Given the description of an element on the screen output the (x, y) to click on. 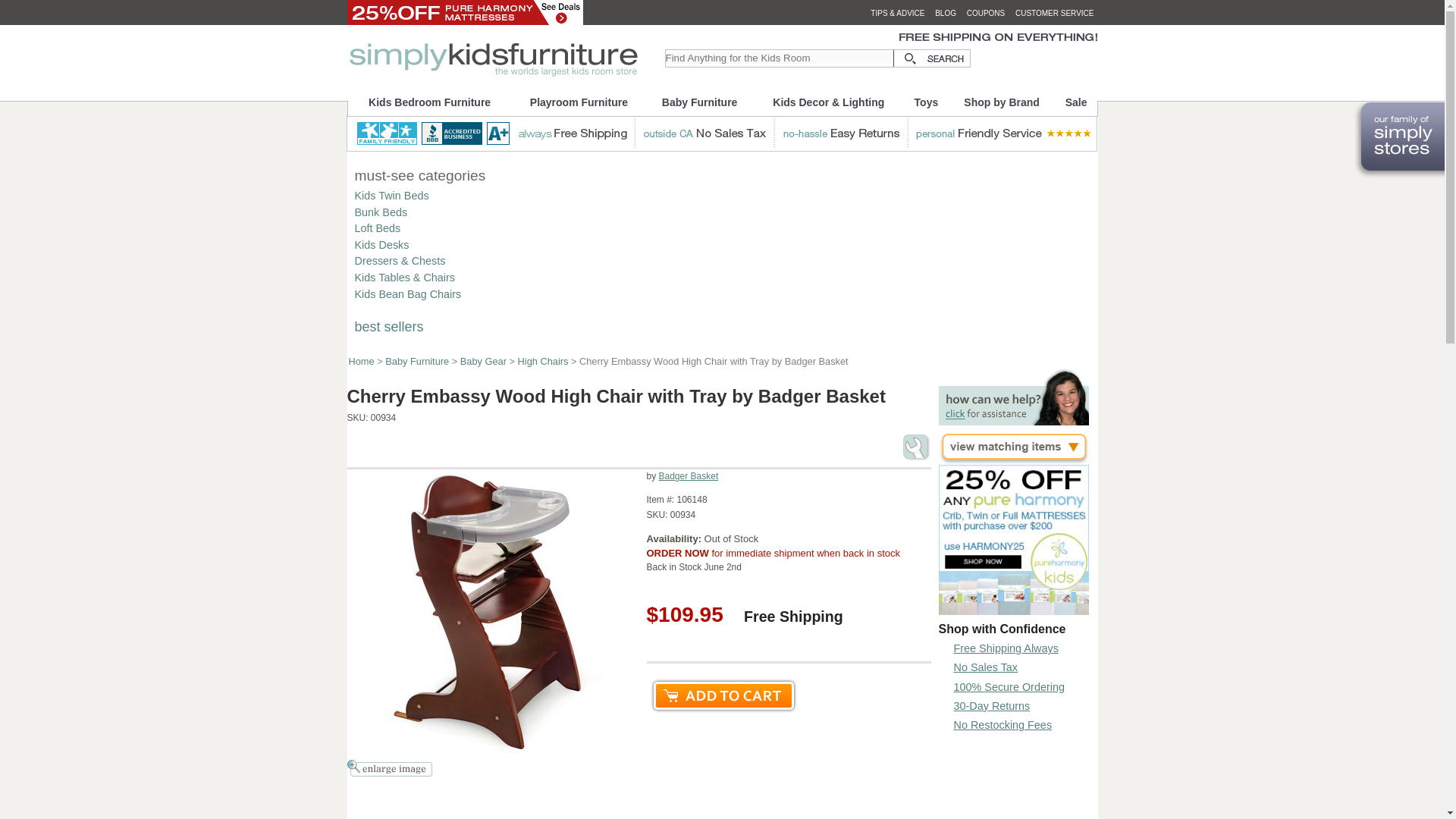
COUPONS (986, 13)
Toys (925, 102)
Better Business Bureau Accredited Business (467, 132)
BLOG (945, 13)
CUSTOMER SERVICE (1054, 13)
Shop by Brand (1002, 102)
Sale (1076, 102)
Baby Furniture (699, 102)
Playroom Furniture (579, 102)
Assembly required (916, 447)
Kids Bedroom Furniture (429, 102)
How can we help? (1014, 420)
